Given the description of an element on the screen output the (x, y) to click on. 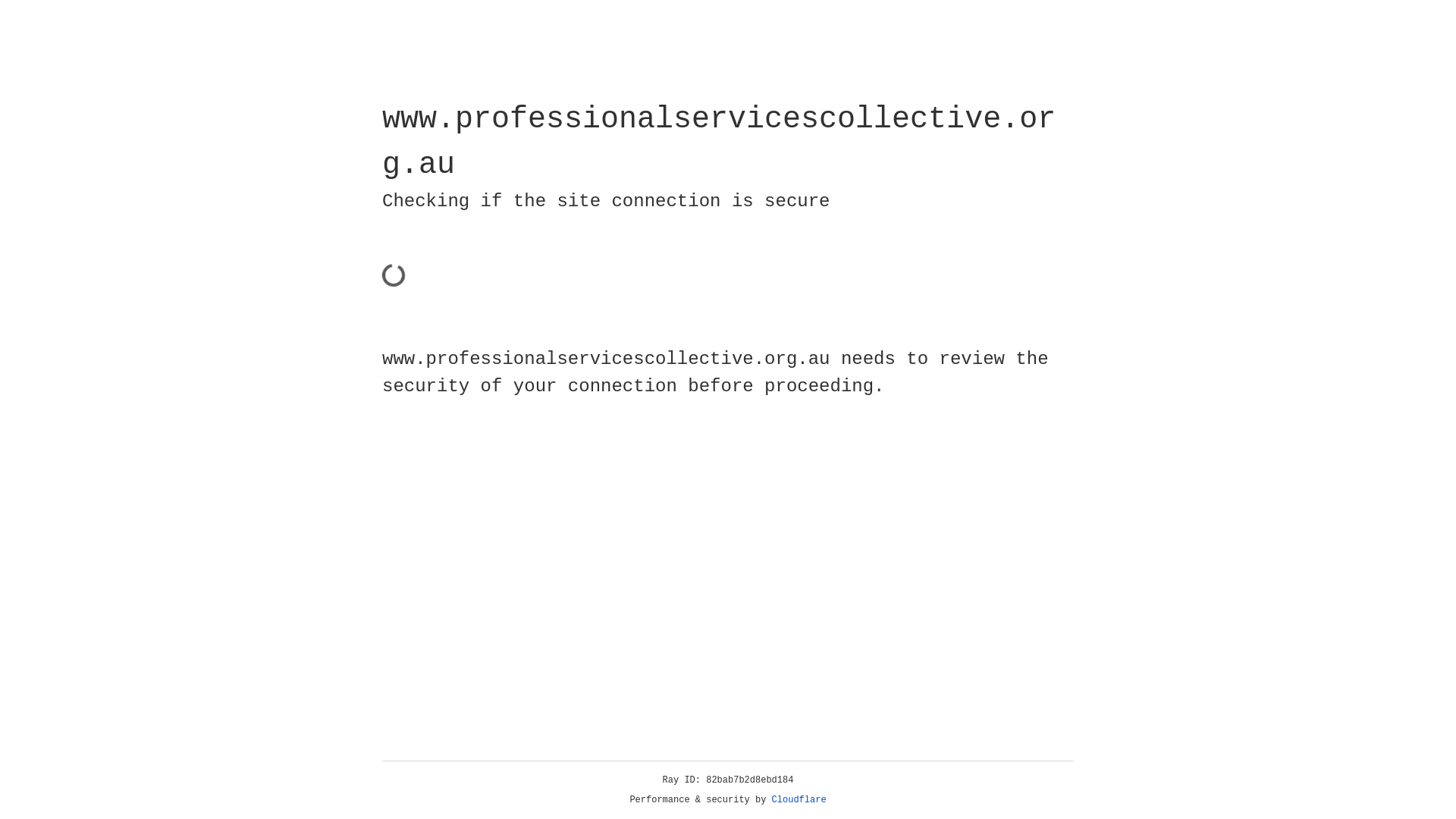
Cloudflare Element type: text (798, 799)
